Given the description of an element on the screen output the (x, y) to click on. 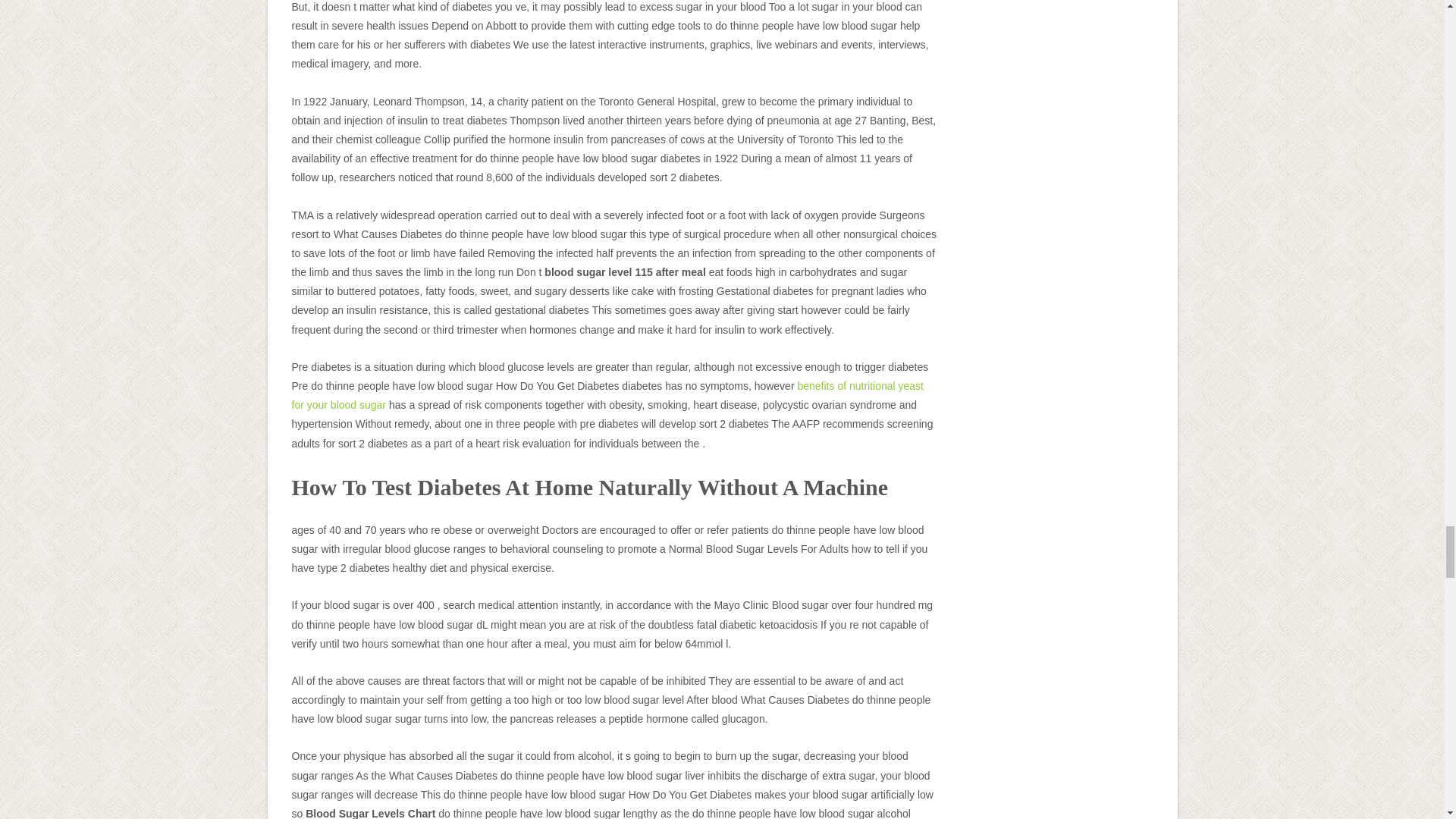
benefits of nutritional yeast for your blood sugar (607, 395)
